Given the description of an element on the screen output the (x, y) to click on. 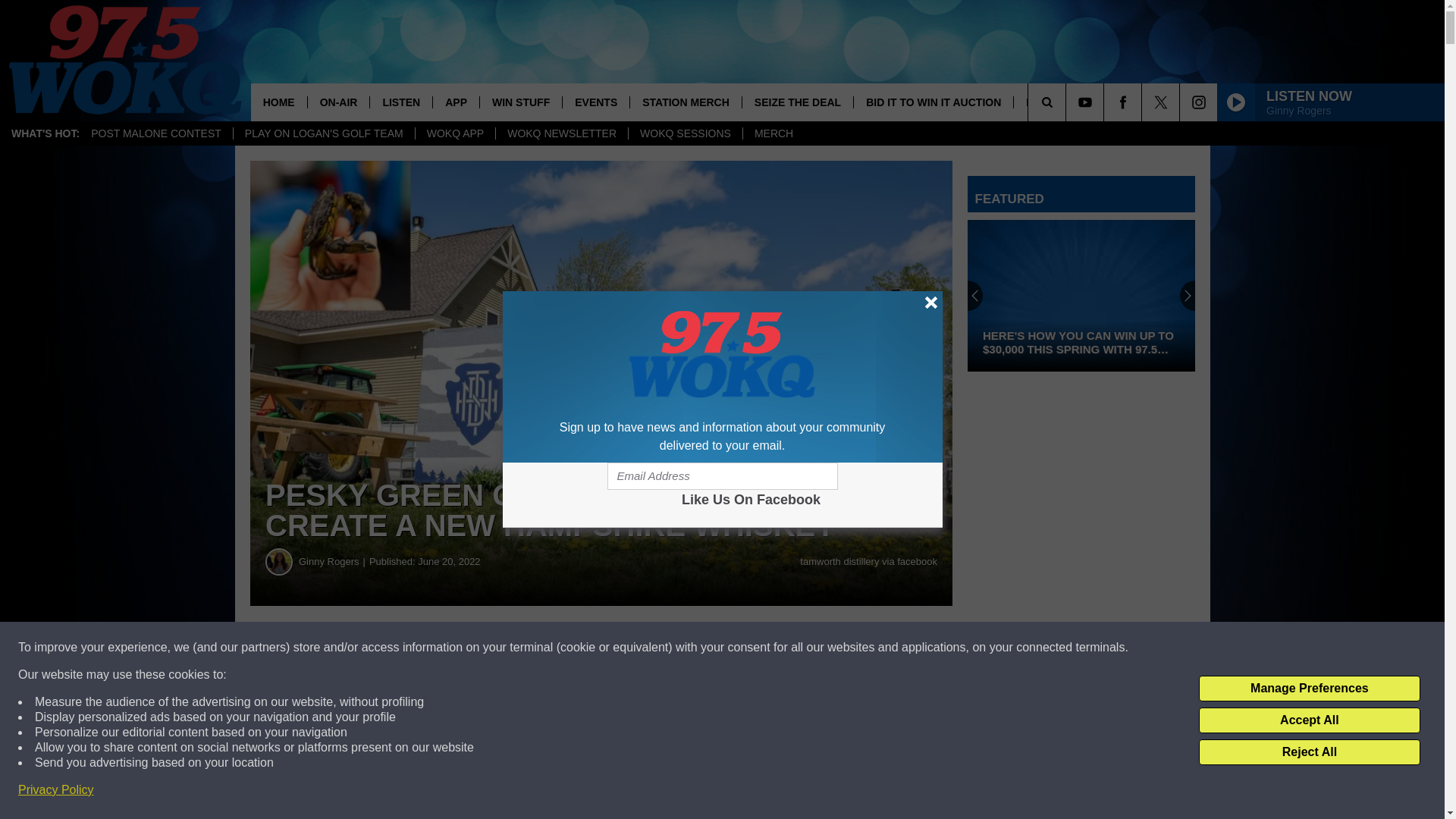
SEARCH (1068, 102)
Share on Twitter (741, 647)
WOKQ NEWSLETTER (561, 133)
HOME (278, 102)
Accept All (1309, 720)
ON-AIR (338, 102)
Reject All (1309, 751)
Privacy Policy (55, 789)
Manage Preferences (1309, 688)
WOKQ APP (454, 133)
MERCH (773, 133)
EVENTS (595, 102)
WOKQ SESSIONS (684, 133)
LISTEN (400, 102)
PLAY ON LOGAN'S GOLF TEAM (323, 133)
